Given the description of an element on the screen output the (x, y) to click on. 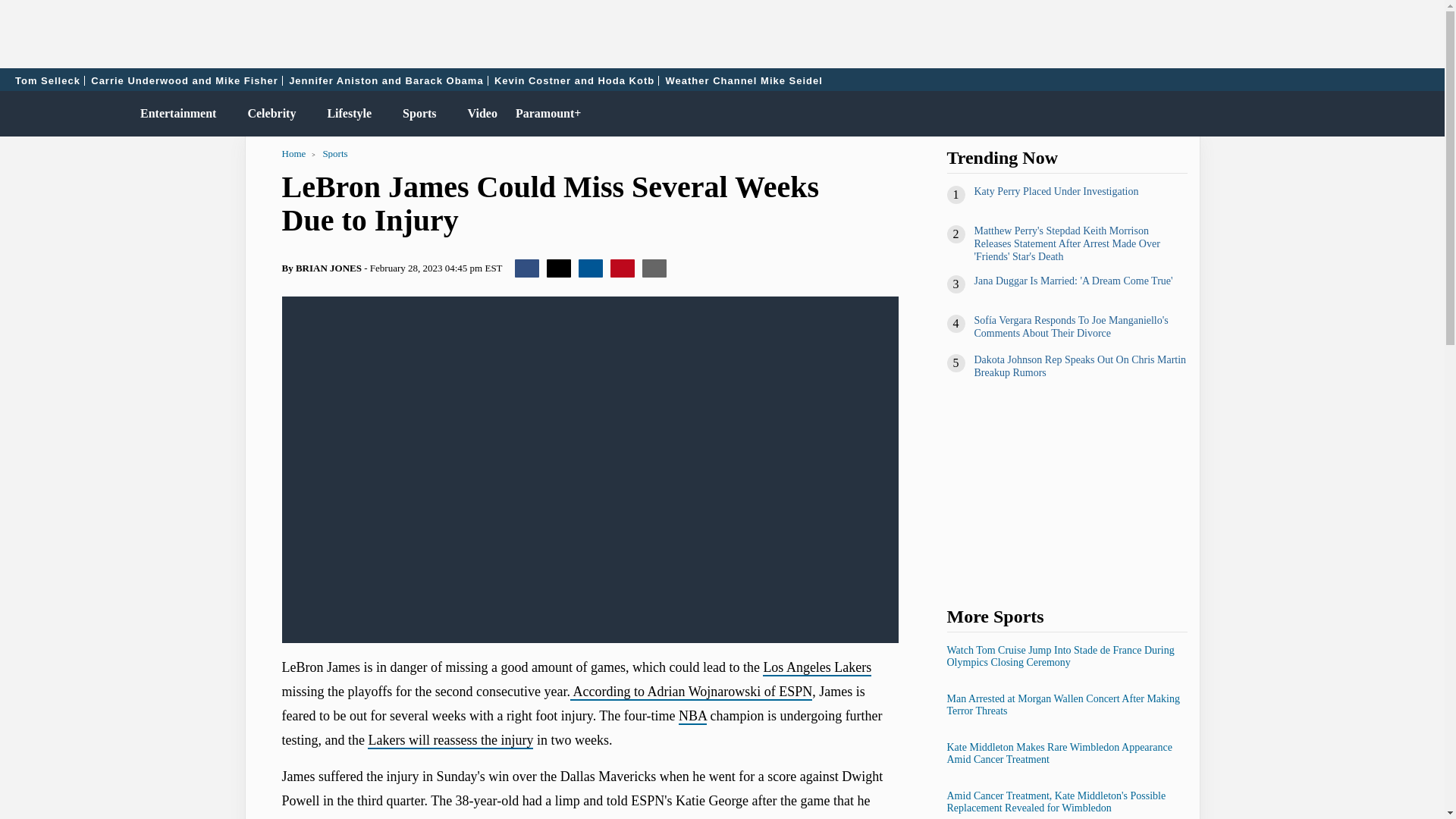
Jennifer Aniston and Barack Obama (385, 80)
Carrie Underwood and Mike Fisher (184, 80)
Video (479, 113)
Weather Channel Mike Seidel (743, 80)
Dark Mode (1394, 113)
Entertainment (175, 113)
Sports (416, 113)
Tom Selleck (47, 80)
Lifestyle (345, 113)
Kevin Costner and Hoda Kotb (574, 80)
